Given the description of an element on the screen output the (x, y) to click on. 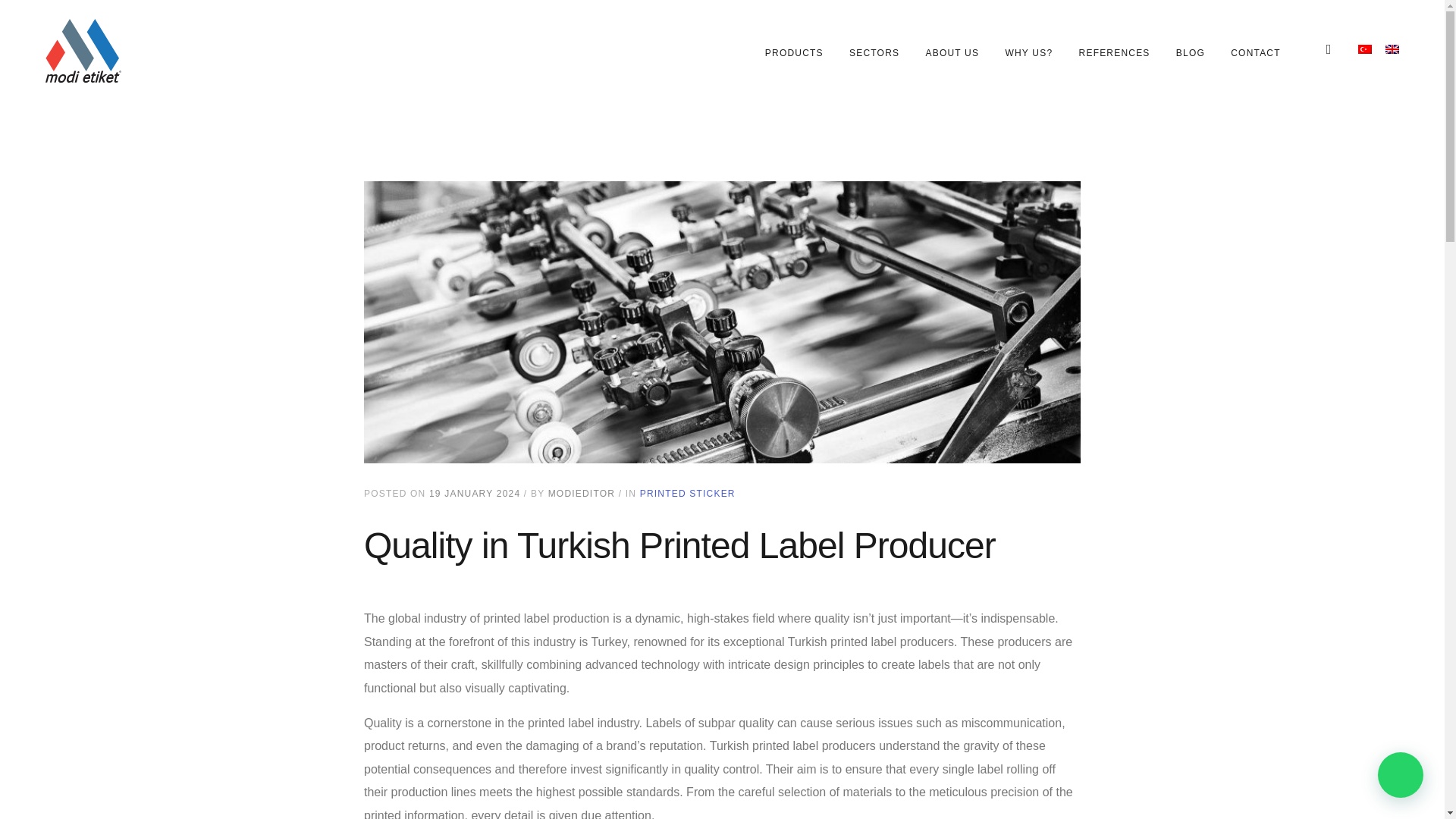
ABOUT US (951, 53)
CONTACT (1023, 51)
PRINTED STICKER (1255, 53)
REFERENCES (687, 493)
Quality in Turkish Printed Label Producer (1114, 53)
SECTORS (794, 53)
MODIEDITOR (873, 53)
WHY US? (581, 493)
BLOG (1028, 53)
